Given the description of an element on the screen output the (x, y) to click on. 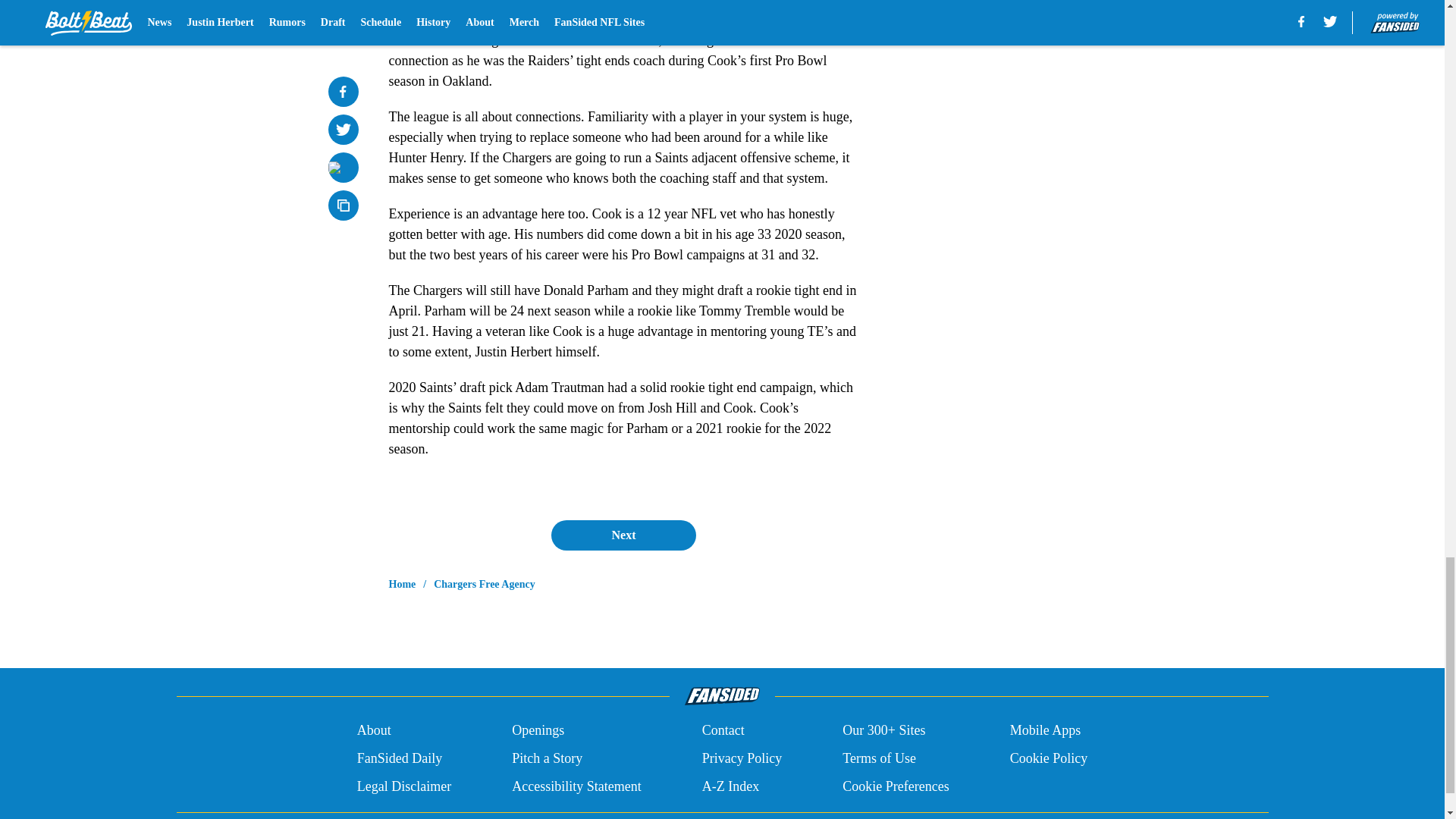
About (373, 730)
Chargers Free Agency (483, 584)
Privacy Policy (742, 758)
Terms of Use (879, 758)
Openings (538, 730)
Pitch a Story (547, 758)
Cookie Policy (1048, 758)
Home (401, 584)
Mobile Apps (1045, 730)
Next (622, 535)
FanSided Daily (399, 758)
Contact (722, 730)
